Given the description of an element on the screen output the (x, y) to click on. 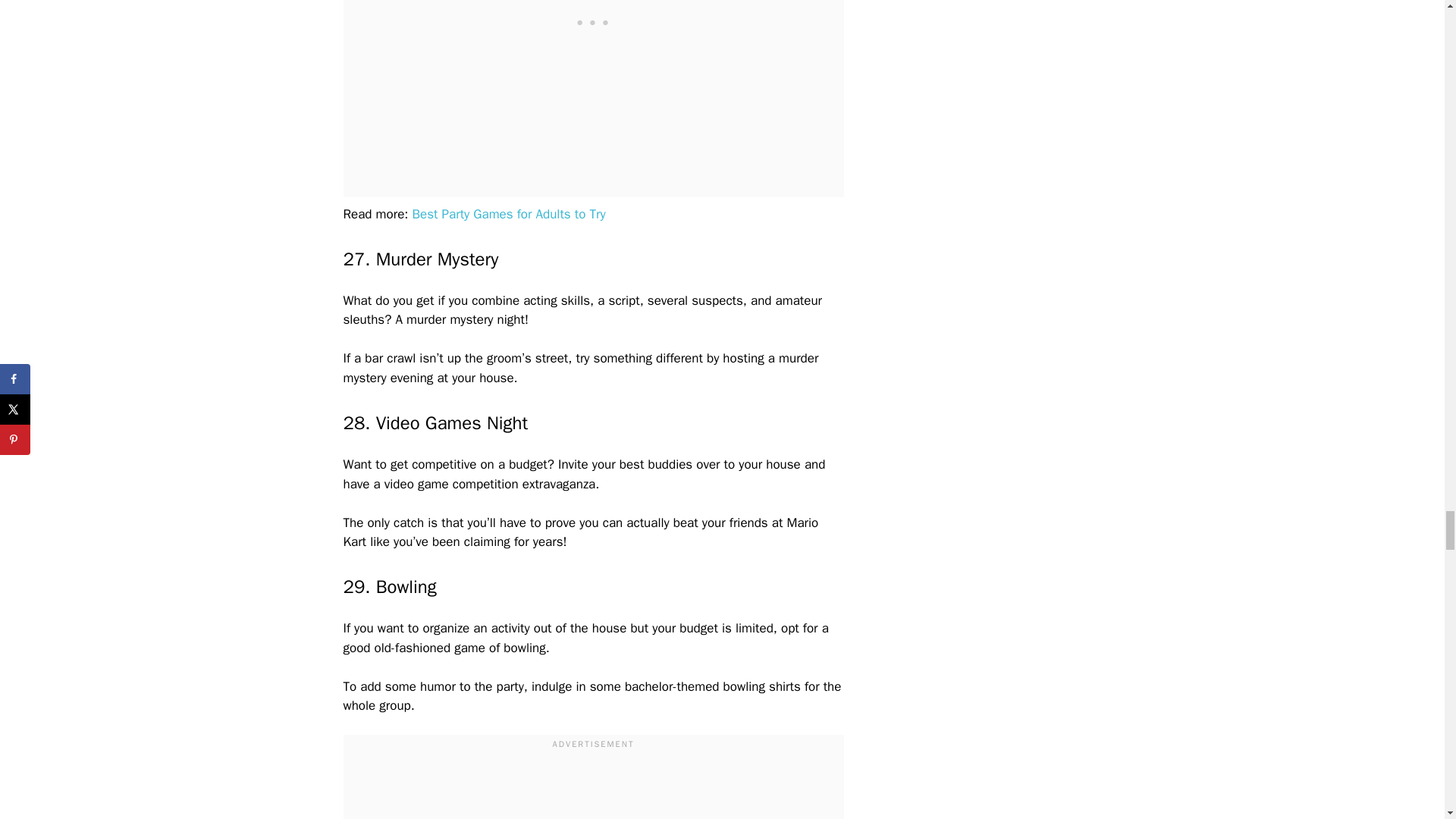
Best Party Games for Adults to Try (508, 213)
